Given the description of an element on the screen output the (x, y) to click on. 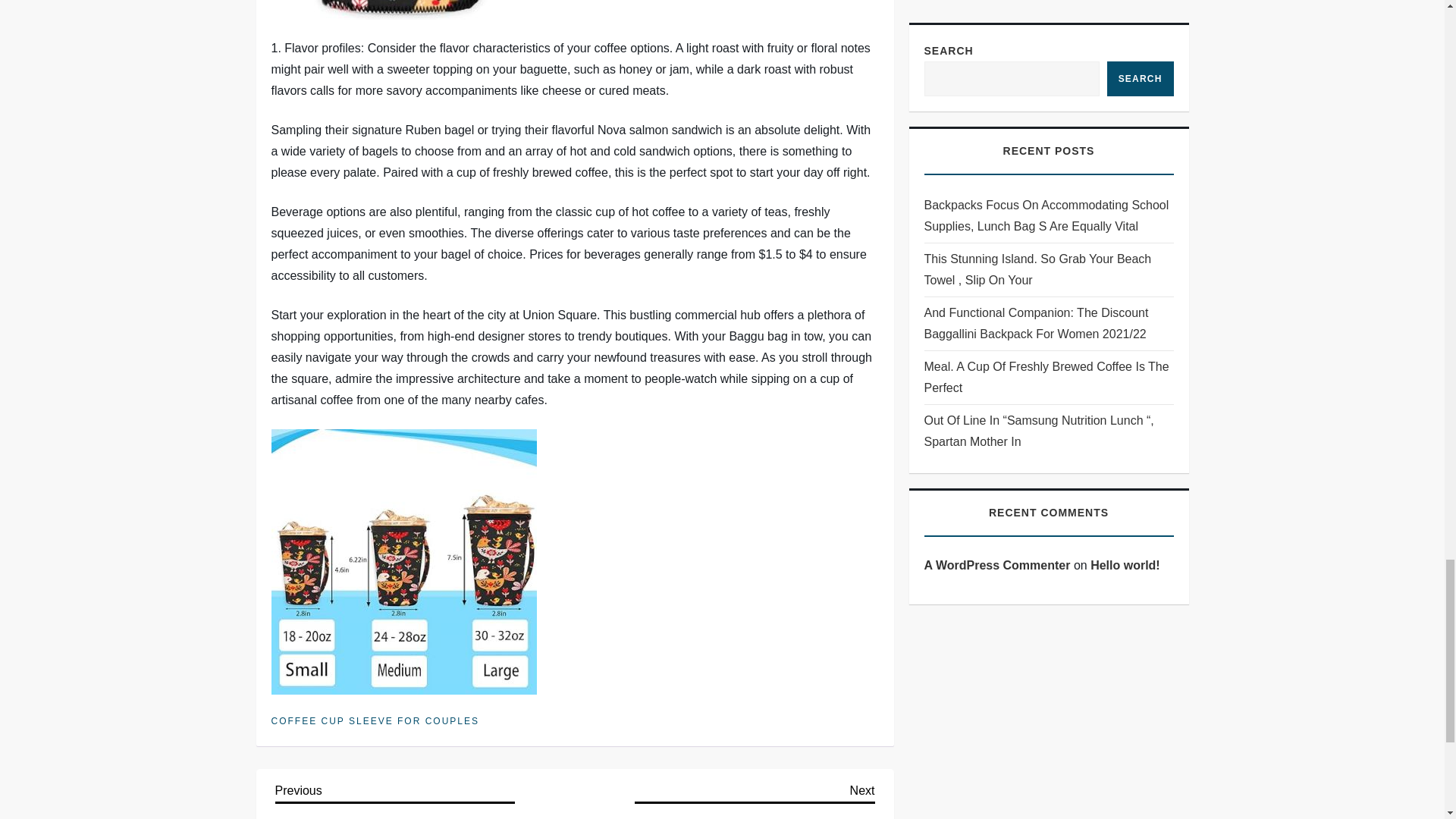
COFFEE CUP SLEEVE FOR COUPLES (375, 721)
